Given the description of an element on the screen output the (x, y) to click on. 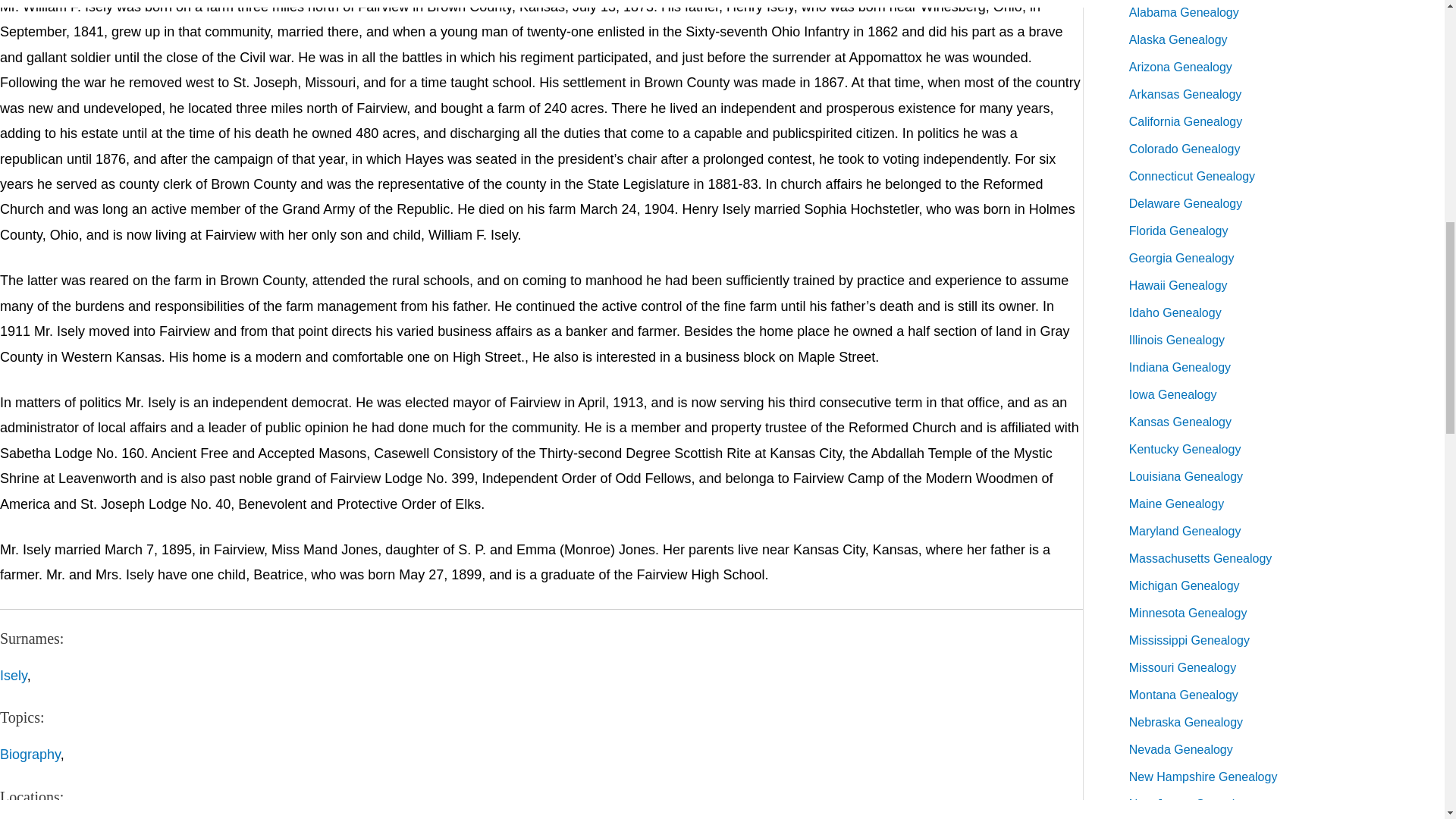
Alabama Genealogy (1184, 11)
Arkansas Genealogy (1185, 93)
California Genealogy (1185, 121)
Alaska Genealogy (1178, 39)
Isely (13, 675)
Alaska Genealogy (1178, 39)
Georgia Genealogy (1181, 257)
Delaware Genealogy (1185, 203)
Connecticut Genealogy (1192, 175)
Arizona Genealogy (1180, 66)
Idaho Genealogy (1175, 312)
Hawaii Genealogy (1178, 285)
Arizona Genealogy (1180, 66)
Alabama Genealogy (1184, 11)
Florida Genealogy (1178, 230)
